Given the description of an element on the screen output the (x, y) to click on. 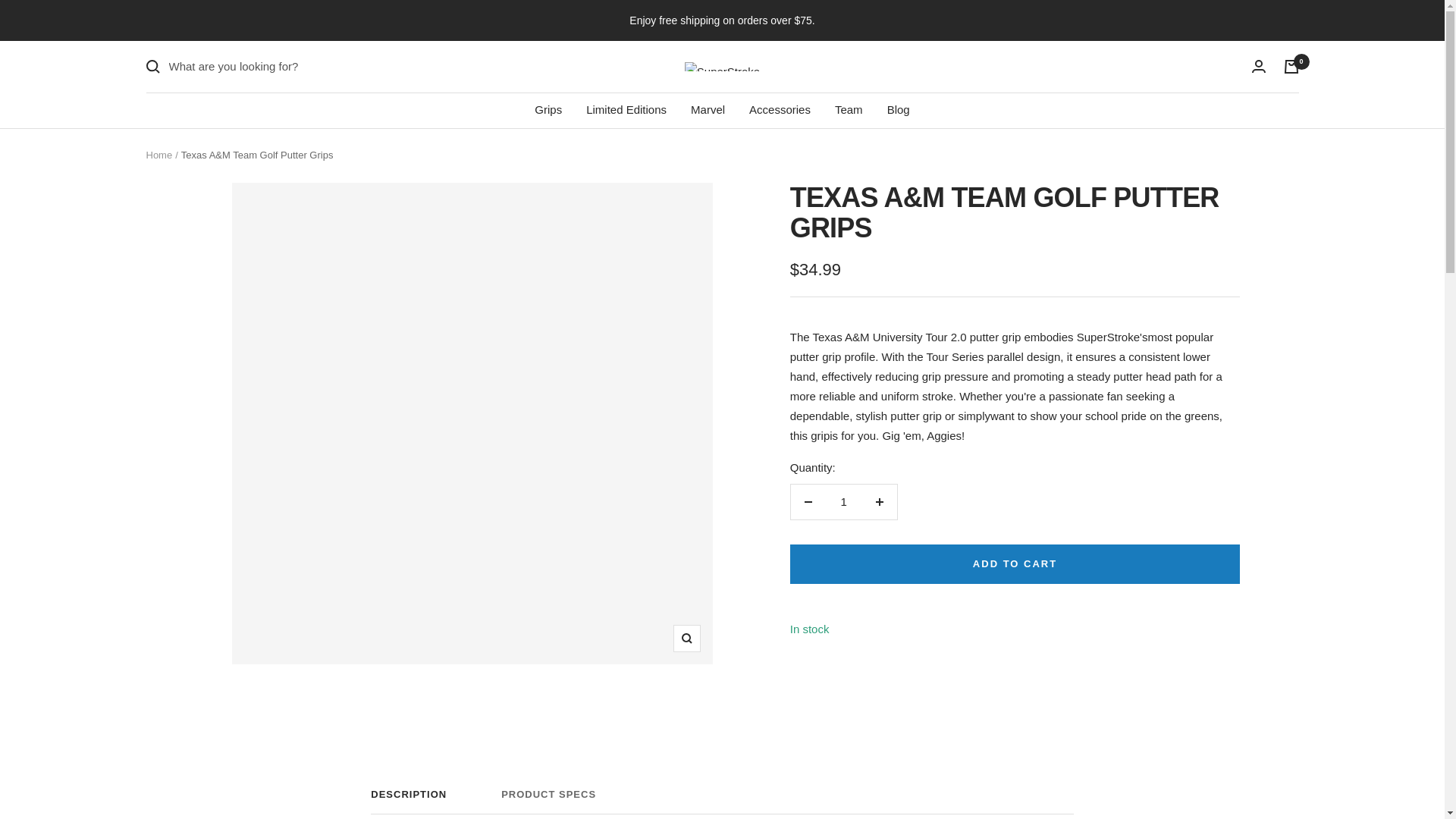
SuperStroke Golf (722, 66)
Team (848, 109)
Accessories (779, 109)
Blog (898, 109)
Marvel (722, 801)
1 (707, 109)
Limited Editions (843, 501)
Grips (626, 109)
0 (548, 109)
